Given the description of an element on the screen output the (x, y) to click on. 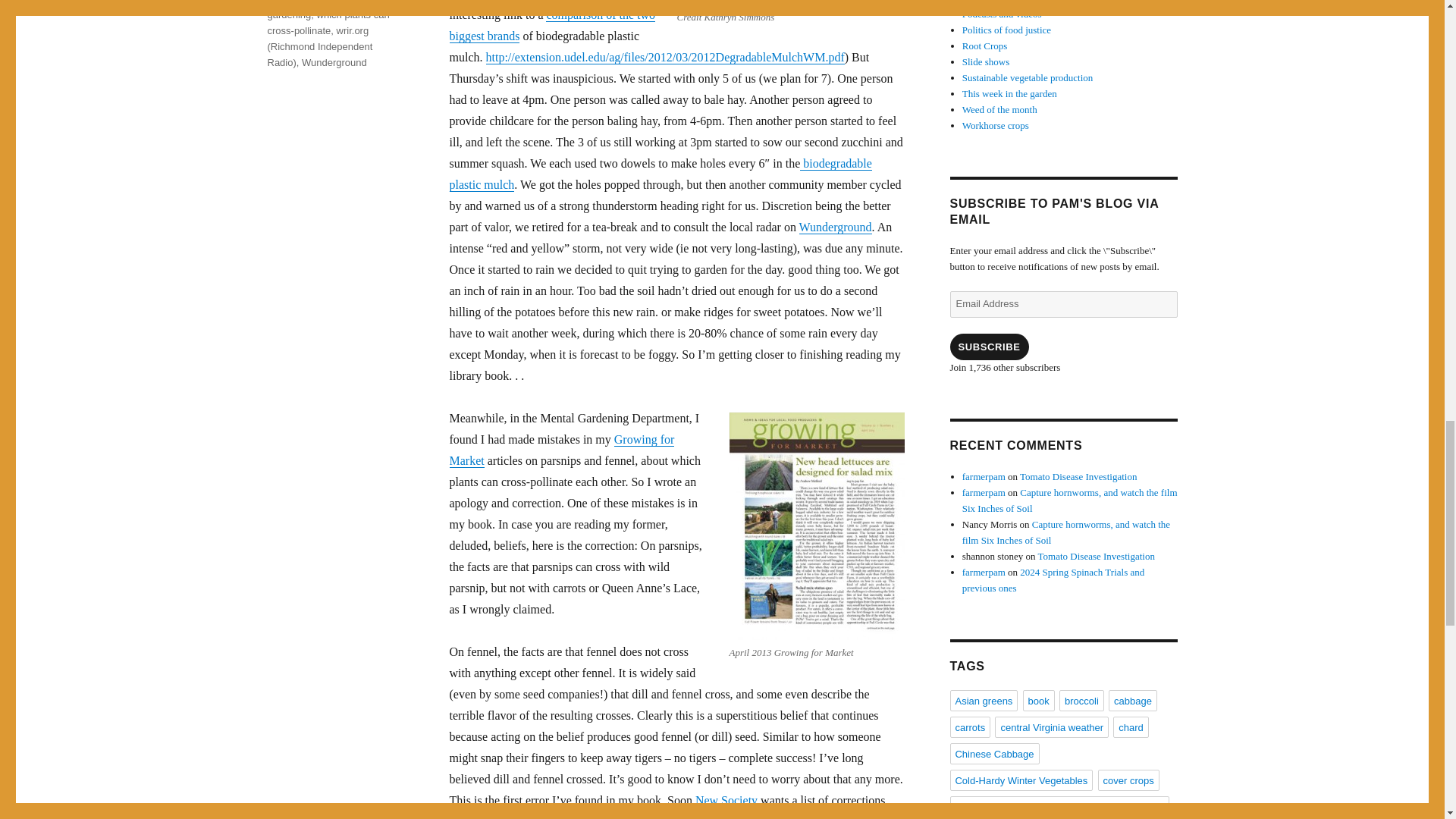
Wunderground forecast for Twin Oaks (835, 226)
New Society (726, 799)
New Society Publishers (726, 799)
Growing for Market (561, 449)
Growing for Market (561, 449)
 Biotelo biodegradable plastic mulch (659, 173)
biodegradable plastic mulch (659, 173)
comparison of the two biggest brands (551, 25)
Wunderground (835, 226)
Comparison of Biotelo and Eco-One mulch film (551, 25)
